Given the description of an element on the screen output the (x, y) to click on. 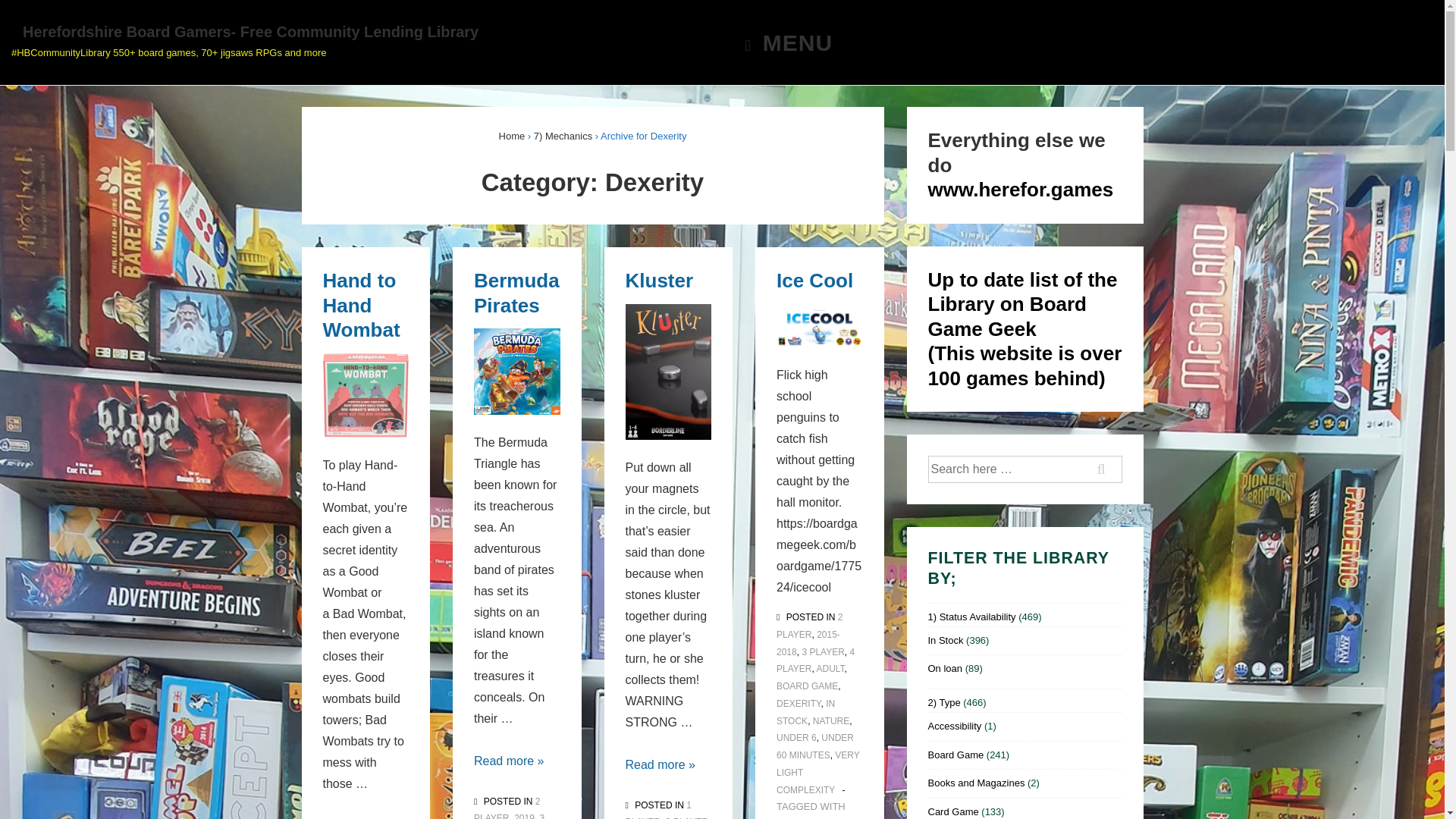
Herefordshire Board Gamers- Free Community Lending Library (782, 42)
